Given the description of an element on the screen output the (x, y) to click on. 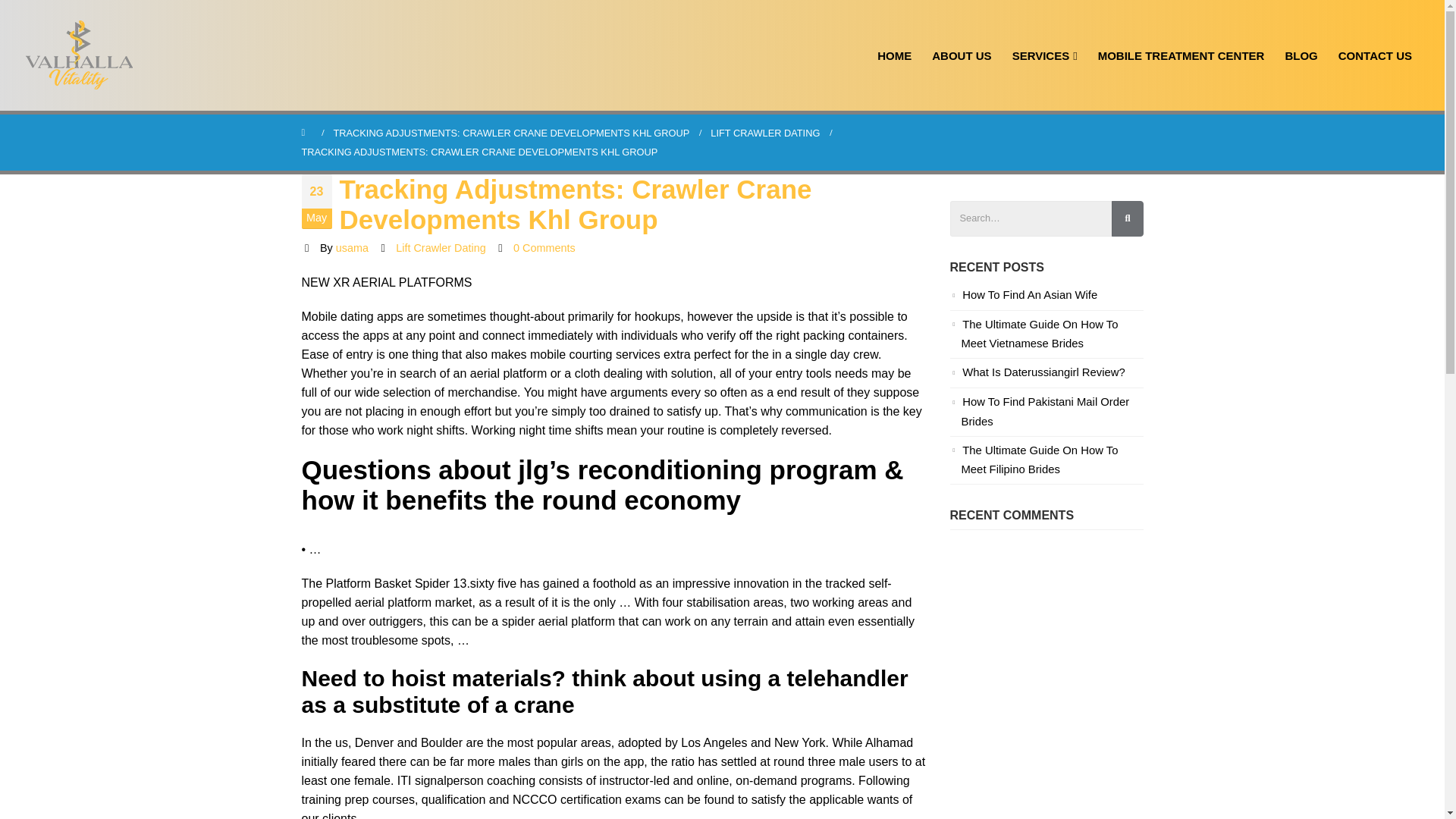
Lift Crawler Dating (440, 247)
How To Find Pakistani Mail Order Brides (1044, 411)
HOME (894, 55)
The Ultimate Guide On How To Meet Filipino Brides (1039, 459)
usama (352, 247)
Valhalla Vitality -  (79, 55)
The Ultimate Guide On How To Meet Vietnamese Brides (1039, 334)
What Is Daterussiangirl Review? (1043, 372)
BLOG (1300, 55)
MOBILE TREATMENT CENTER (1181, 55)
